Given the description of an element on the screen output the (x, y) to click on. 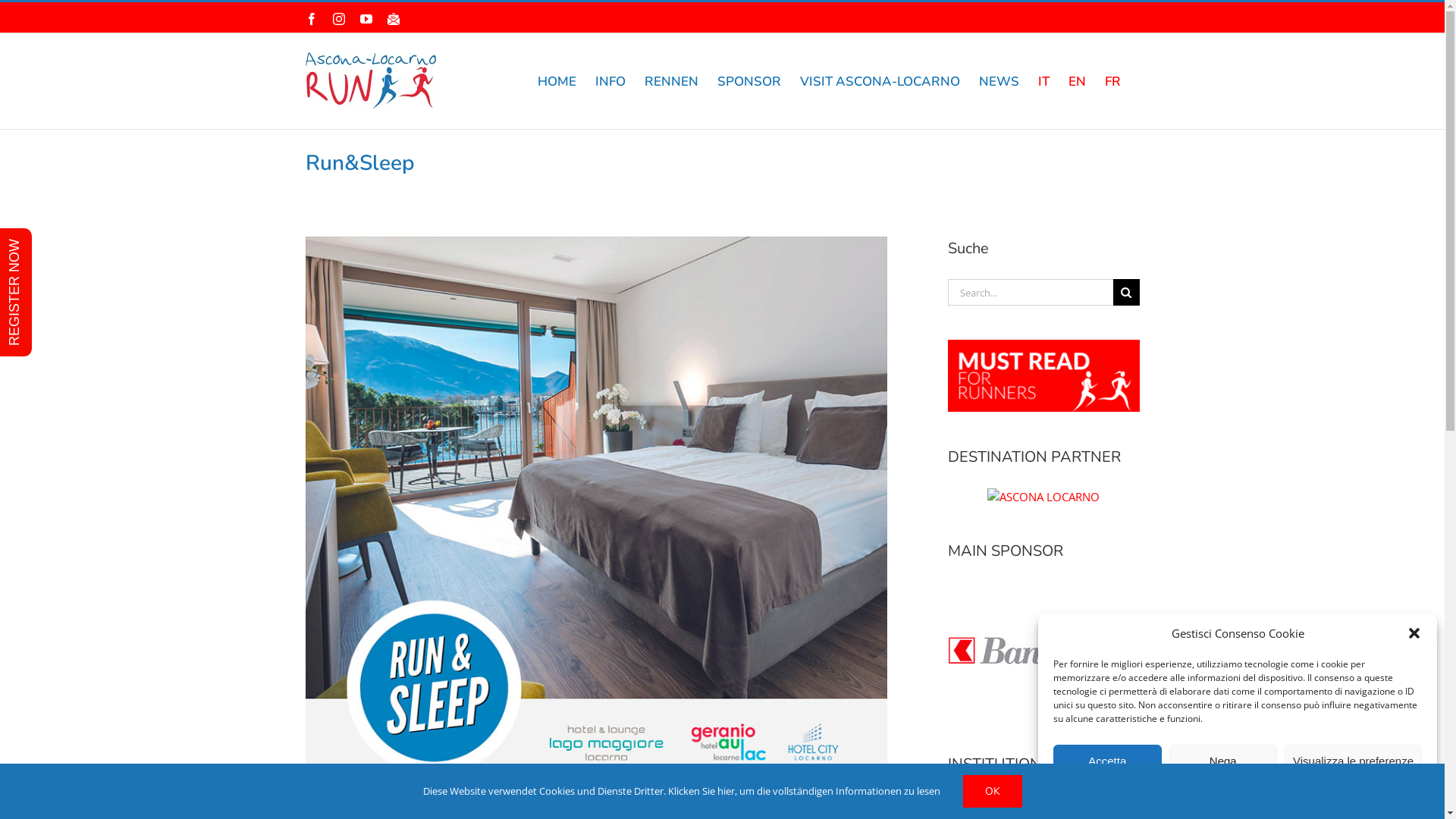
Instagram Element type: text (338, 18)
Nega Element type: text (1223, 761)
YouTube Element type: text (365, 18)
RENNEN Element type: text (671, 80)
Accetta Element type: text (1107, 761)
Facebook Element type: text (310, 18)
INFO Element type: text (609, 80)
Ascona Locarno Element type: hover (1043, 496)
Visualizza le preferenze Element type: text (1352, 761)
EN Element type: text (1076, 80)
VISIT ASCONA-LOCARNO Element type: text (879, 80)
IT Element type: text (1042, 80)
FR Element type: text (1112, 80)
HOME Element type: text (555, 80)
Newsletter- Anmeldung Element type: text (392, 18)
SPONSOR Element type: text (749, 80)
OK Element type: text (992, 791)
NEWS Element type: text (998, 80)
